Given the description of an element on the screen output the (x, y) to click on. 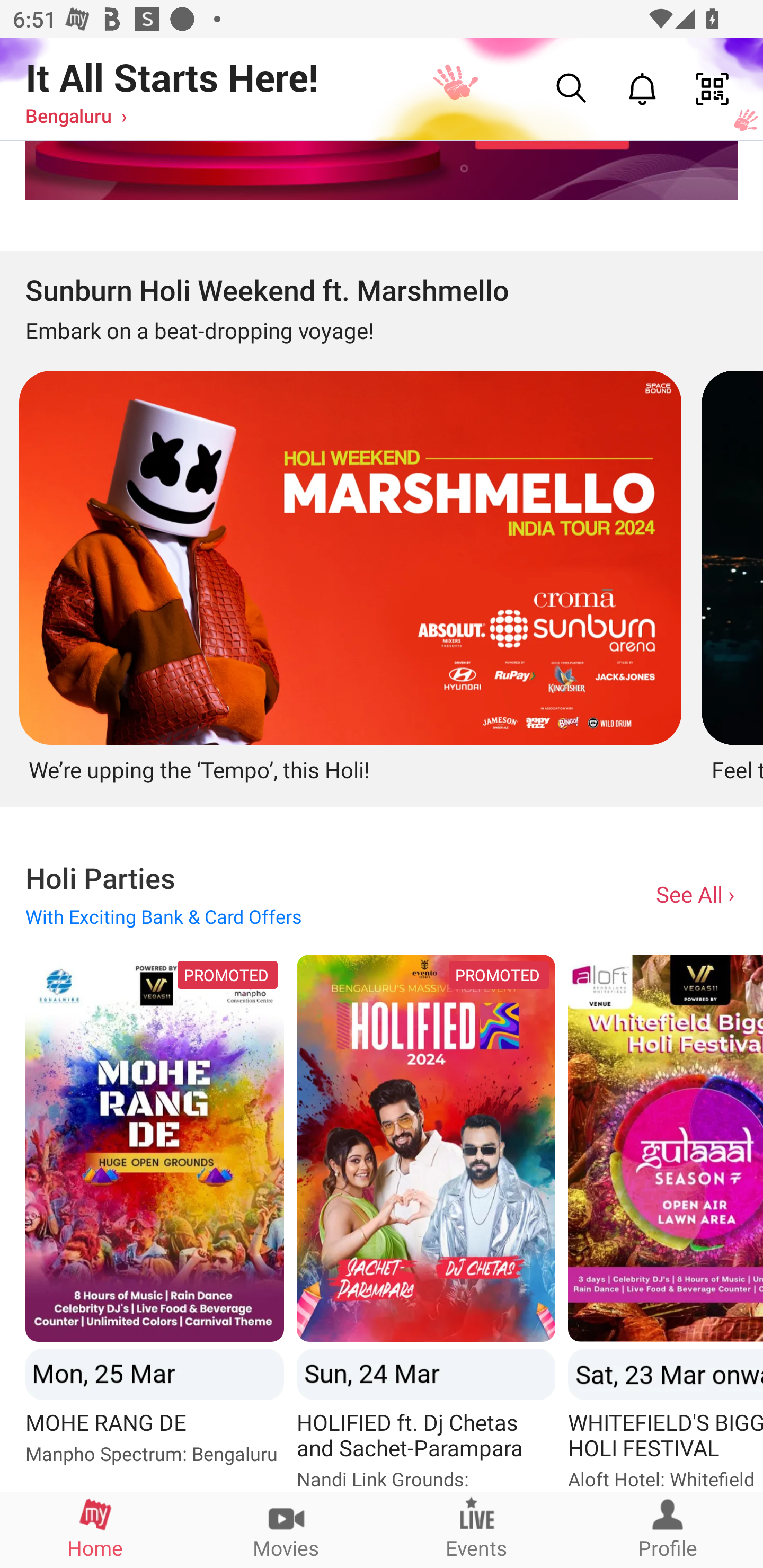
Bengaluru  › (76, 114)
We’re upping the ‘Tempo’, this Holi!  (347, 574)
See All › (696, 893)
MOHE RANG DE Manpho Spectrum: Bengaluru PROMOTED (154, 1222)
Home (95, 1529)
Movies (285, 1529)
Events (476, 1529)
Profile (667, 1529)
